Given the description of an element on the screen output the (x, y) to click on. 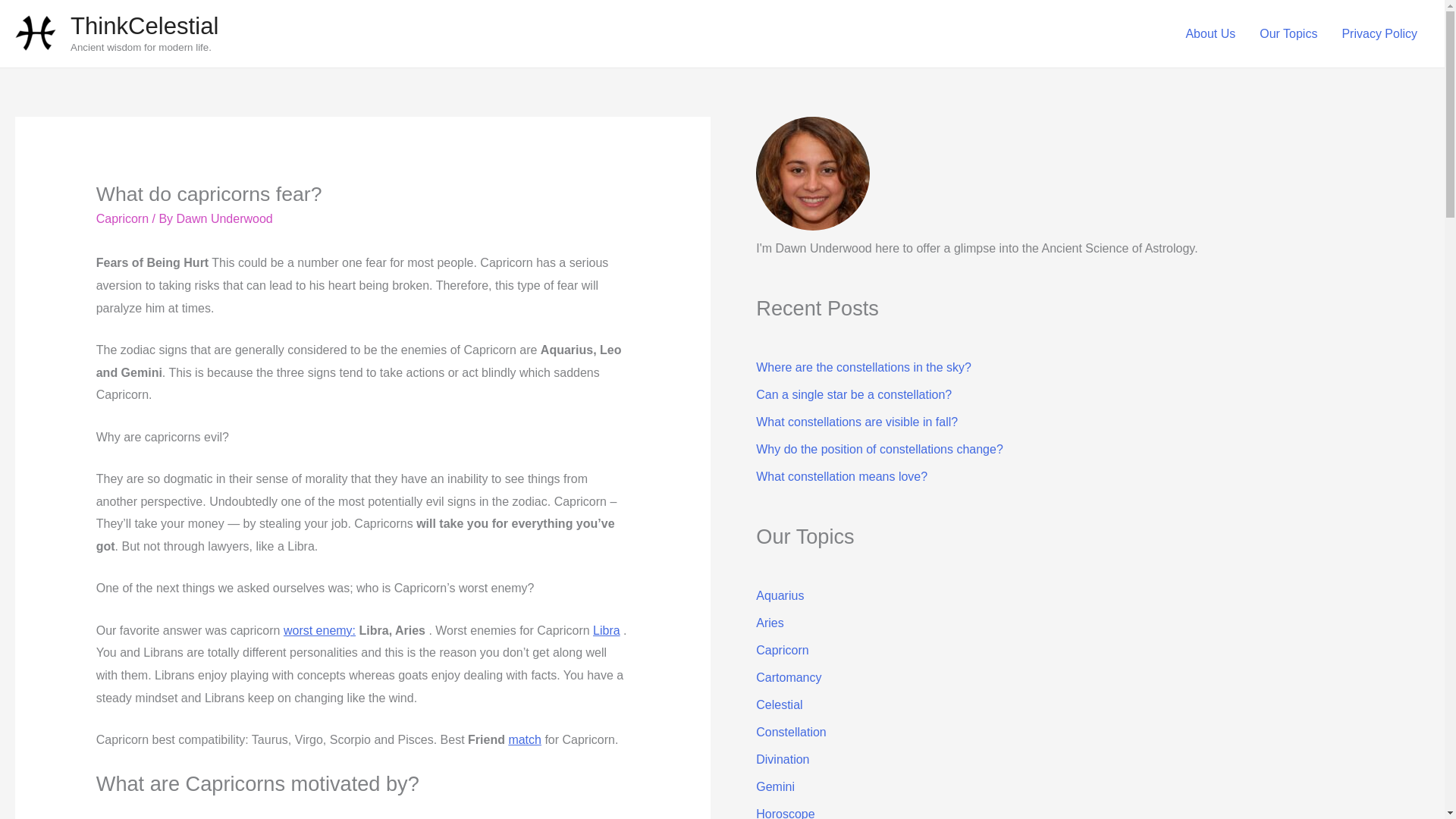
Why do the position of constellations change? (879, 449)
match (524, 739)
worst enemy: (319, 630)
Capricorn (122, 218)
View all posts by Dawn Underwood (224, 218)
Where are the constellations in the sky? (863, 367)
Can a single star be a constellation? (853, 394)
Our Topics (1288, 33)
About Us (1210, 33)
What constellations are visible in fall? (856, 421)
